Given the description of an element on the screen output the (x, y) to click on. 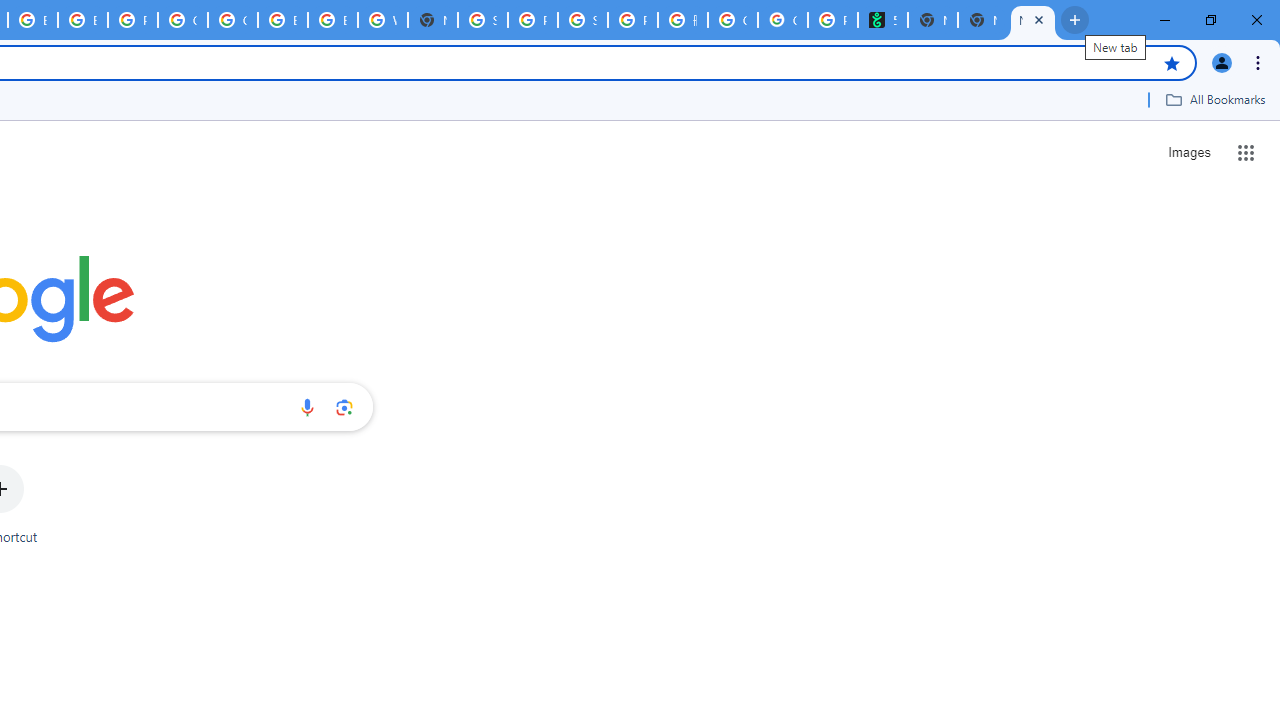
Google Cloud Platform (182, 20)
Google Cloud Platform (232, 20)
